Given the description of an element on the screen output the (x, y) to click on. 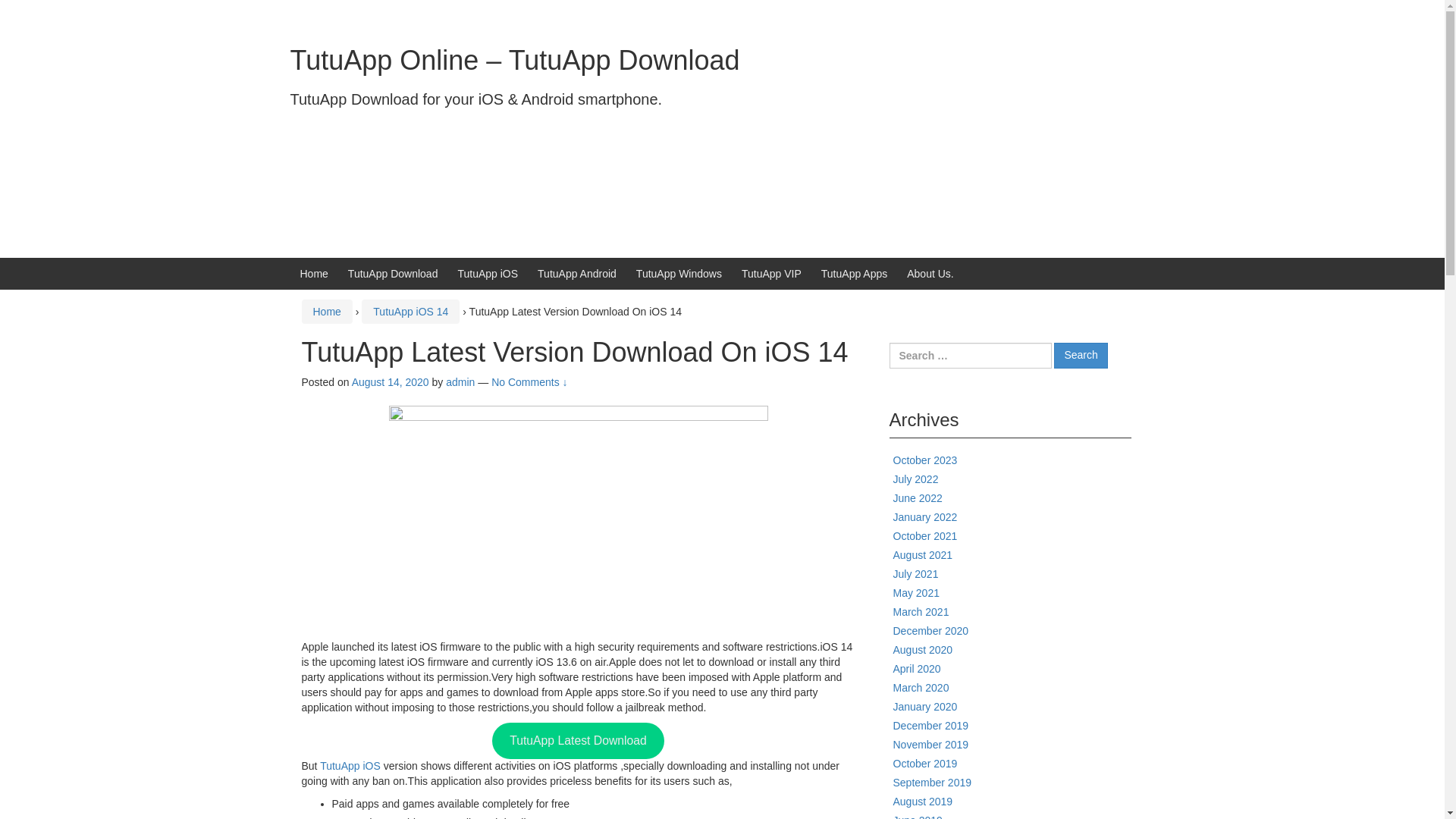
About Us. (930, 273)
TutuApp Android (576, 273)
TutuApp VIP (771, 273)
Search (1080, 355)
About Us. (930, 273)
Home (326, 311)
TutuApp iOS (487, 273)
TutuApp Latest Download (577, 740)
TutuApp VIP (771, 273)
TutuApp Apps (853, 273)
